Given the description of an element on the screen output the (x, y) to click on. 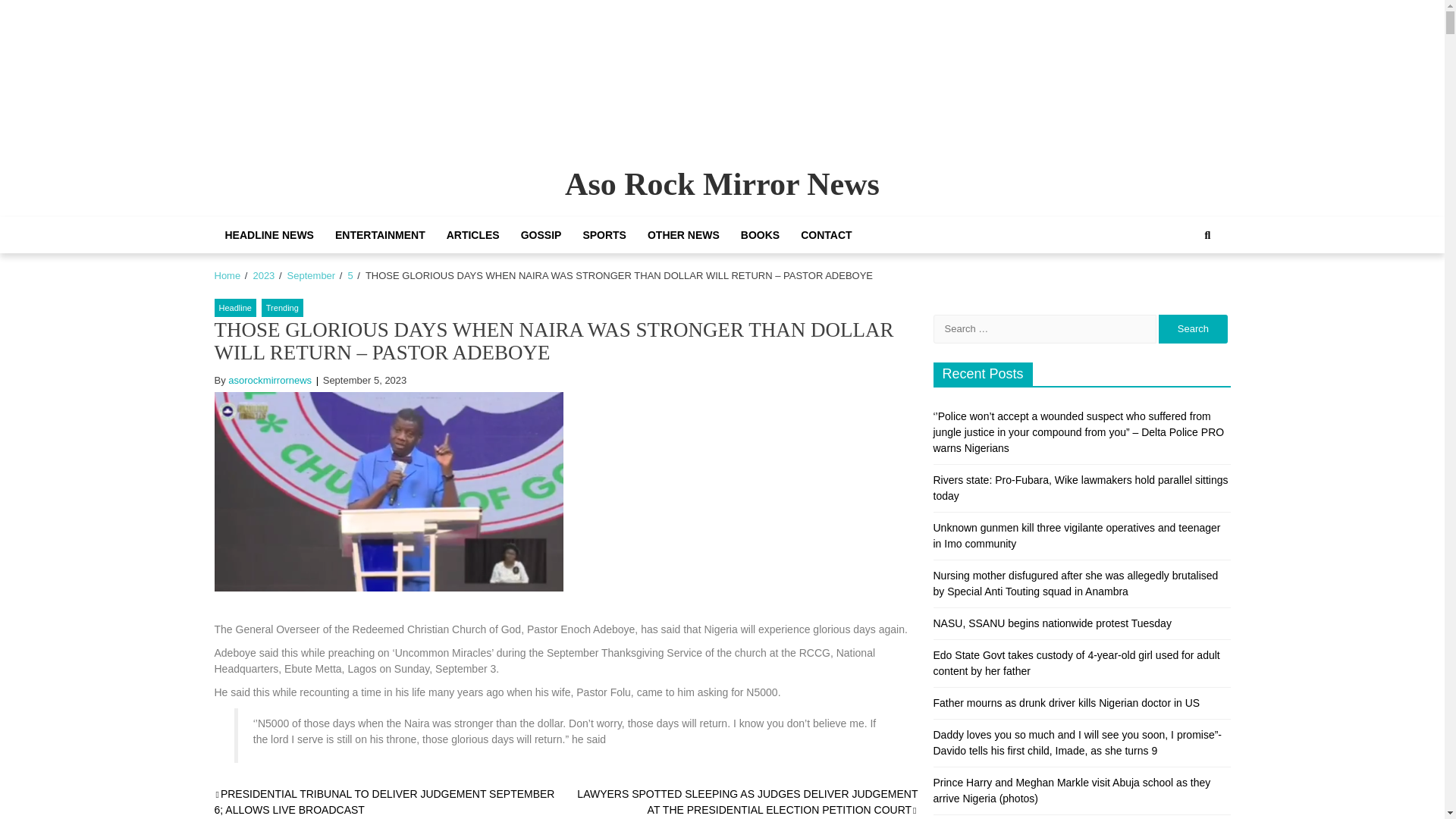
2023 (263, 275)
HEADLINE NEWS (268, 235)
NASU, SSANU begins nationwide protest Tuesday (1051, 623)
OTHER NEWS (683, 235)
ENTERTAINMENT (379, 235)
Search (1207, 235)
Headline (235, 307)
September (311, 275)
Search (1191, 286)
Search (1192, 328)
asorockmirrornews (269, 379)
